Given the description of an element on the screen output the (x, y) to click on. 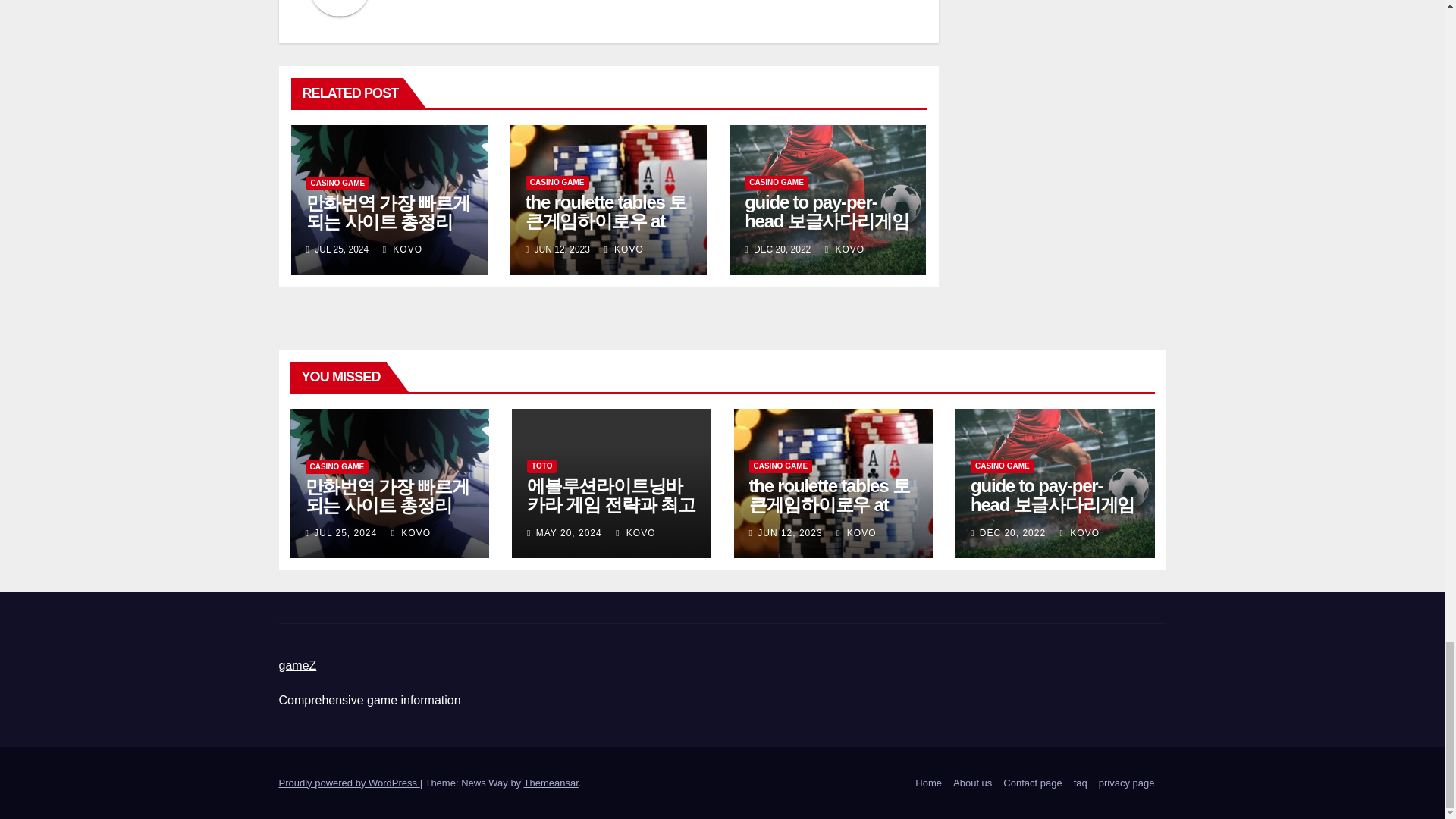
KOVO (623, 249)
CASINO GAME (557, 182)
KOVO (402, 249)
CASINO GAME (776, 182)
Home (928, 782)
CASINO GAME (337, 183)
KOVO (844, 249)
